Given the description of an element on the screen output the (x, y) to click on. 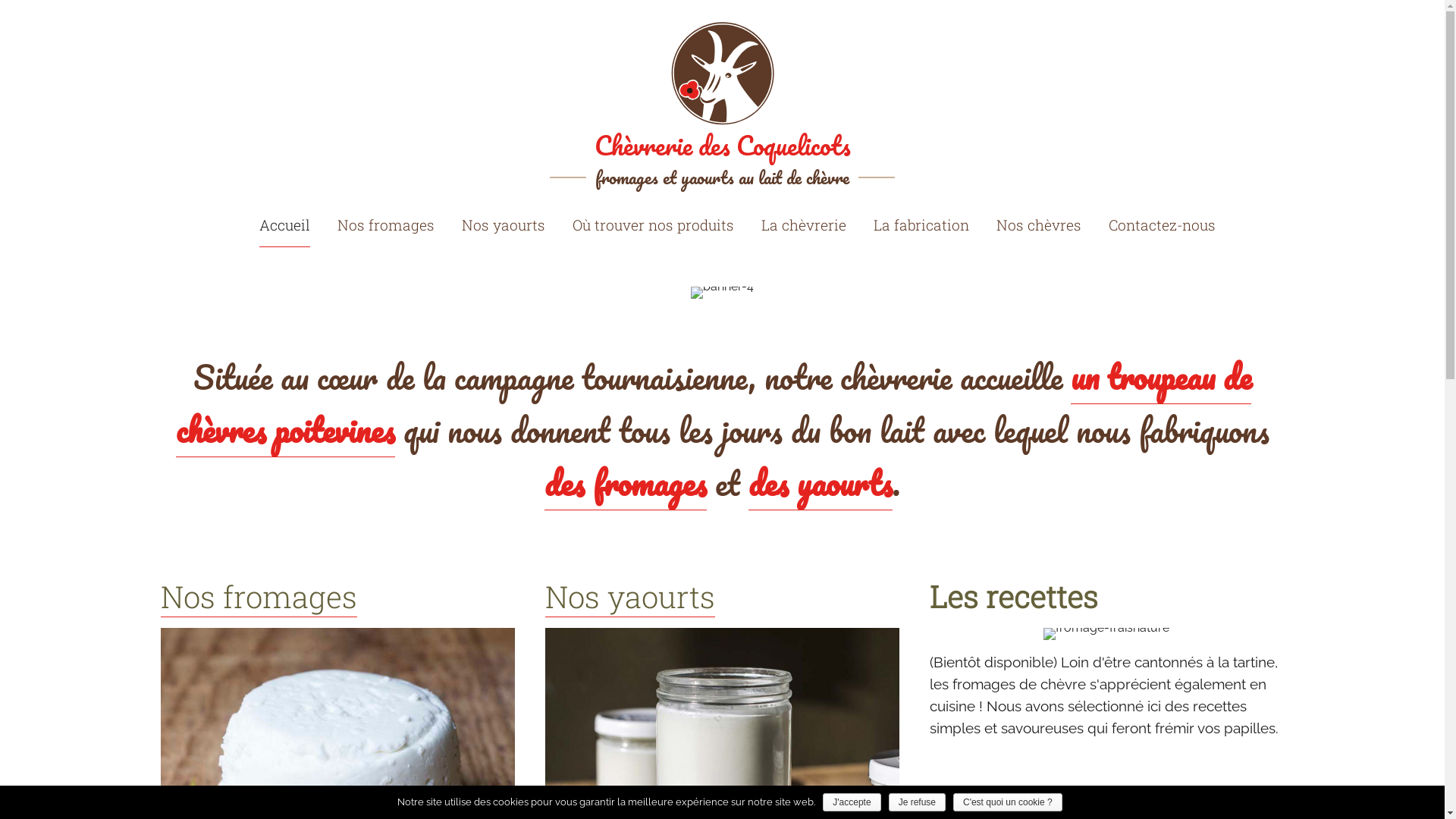
J'accepte Element type: text (851, 802)
des yaourts Element type: text (820, 483)
Nos fromages Element type: text (258, 596)
La fabrication Element type: text (921, 224)
Je refuse Element type: text (916, 802)
Contactez-nous Element type: text (1161, 224)
des fromages Element type: text (625, 483)
fromage-fraisnature Element type: hover (1106, 633)
Nos fromages Element type: text (385, 224)
Nos yaourts Element type: text (630, 596)
banner-4 Element type: hover (721, 292)
Nos yaourts Element type: text (503, 224)
Accueil Element type: text (284, 225)
C'est quoi un cookie ? Element type: text (1007, 802)
